Given the description of an element on the screen output the (x, y) to click on. 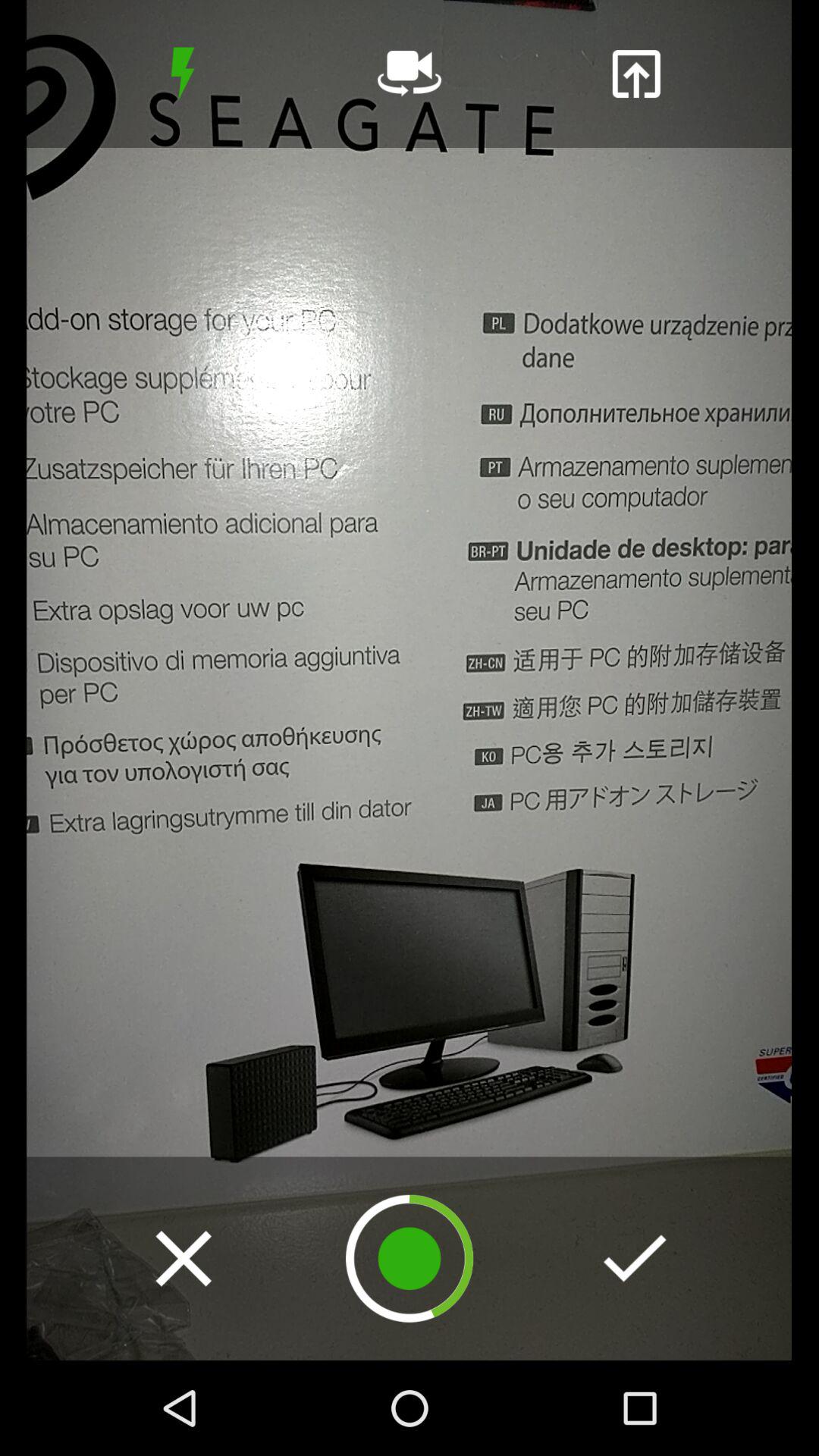
loading (409, 1258)
